Given the description of an element on the screen output the (x, y) to click on. 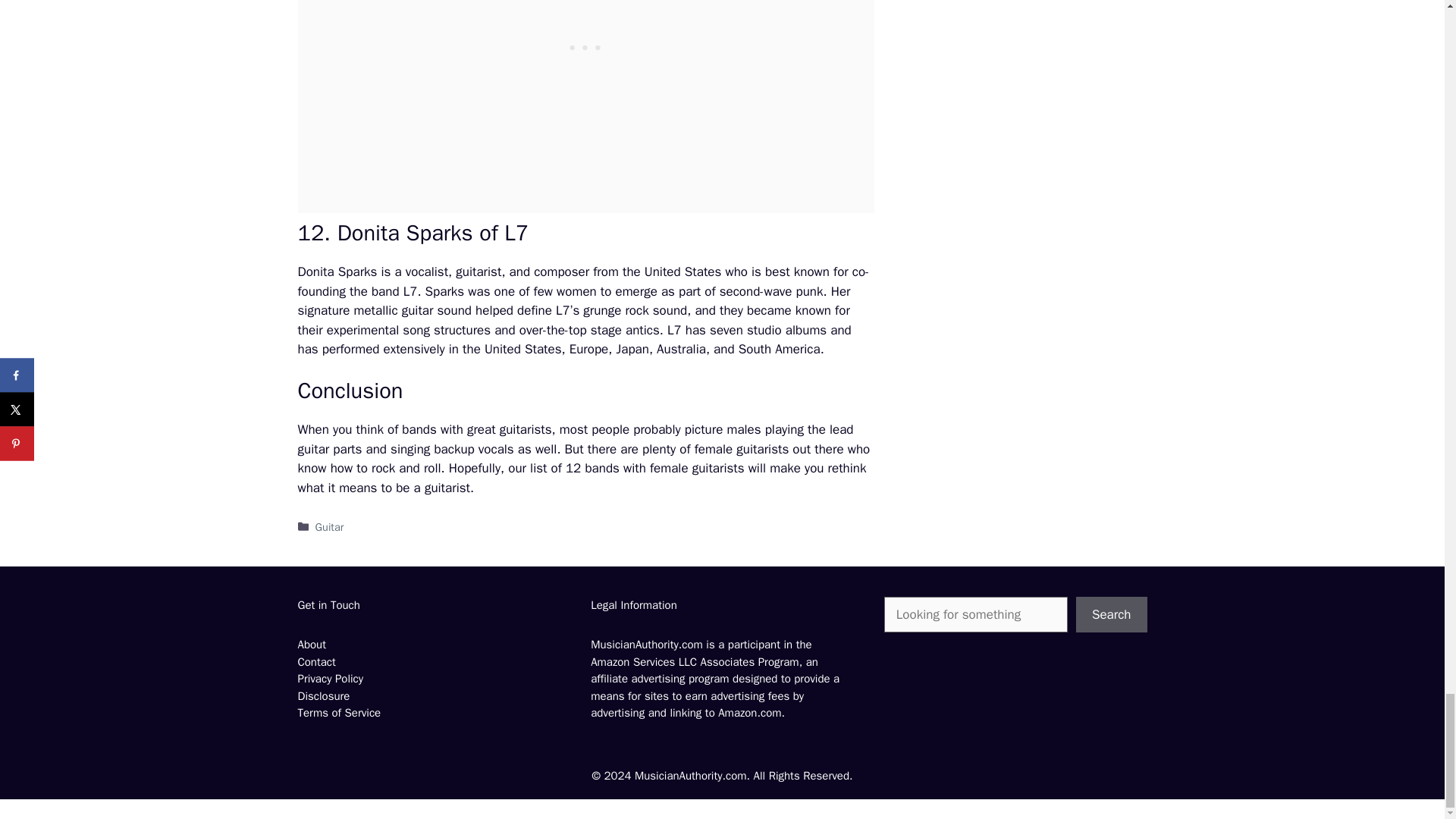
Guitar (329, 526)
About (310, 644)
Contact (315, 662)
Privacy Policy (329, 678)
Disclosure (323, 695)
